Given the description of an element on the screen output the (x, y) to click on. 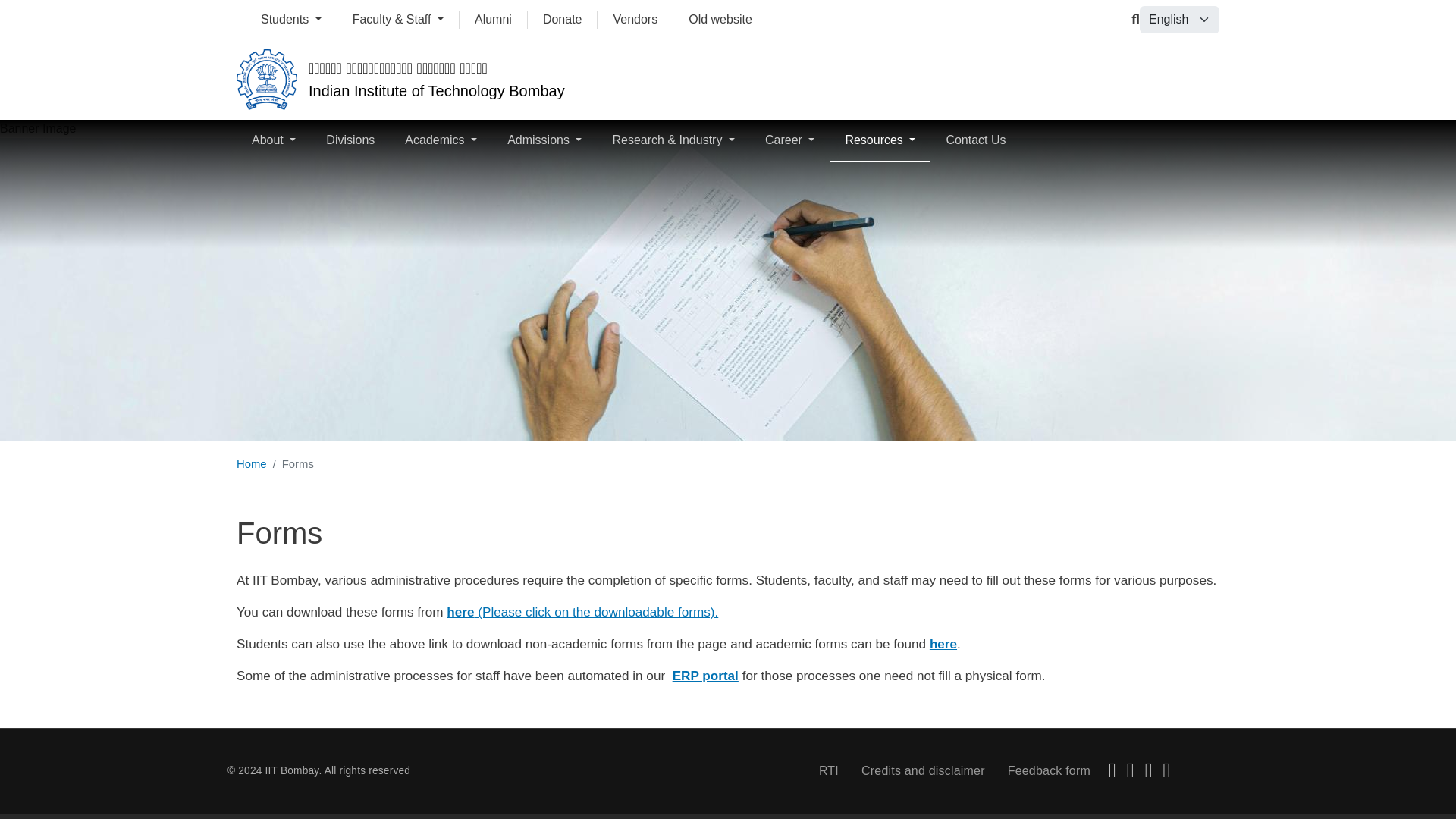
Alumni (493, 19)
Link to the old website. (719, 19)
Donate (562, 19)
Home (266, 79)
Old website (719, 19)
Divisions (350, 139)
Vendors (634, 19)
